Given the description of an element on the screen output the (x, y) to click on. 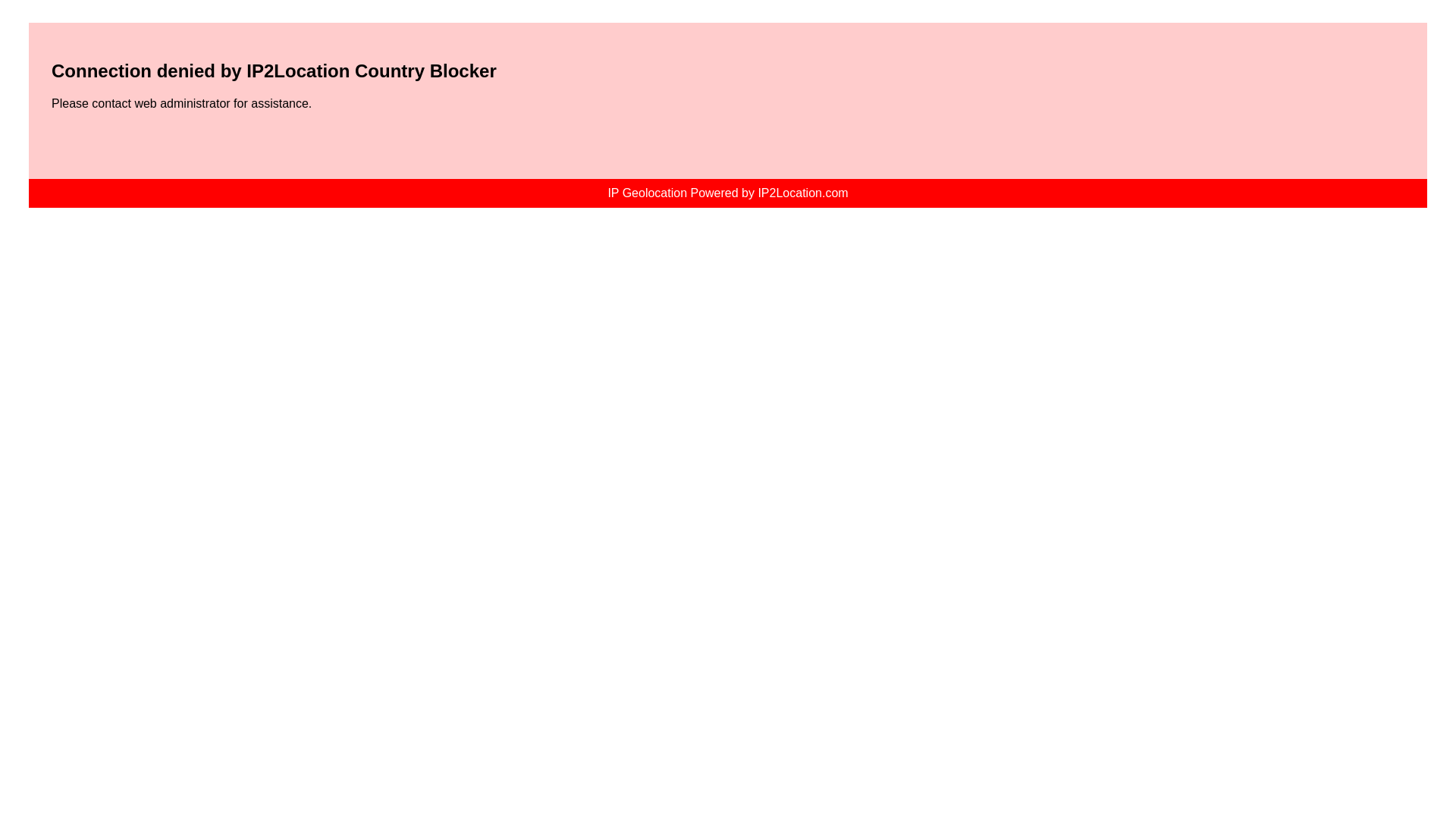
IP Geolocation Powered by IP2Location.com (727, 192)
